Given the description of an element on the screen output the (x, y) to click on. 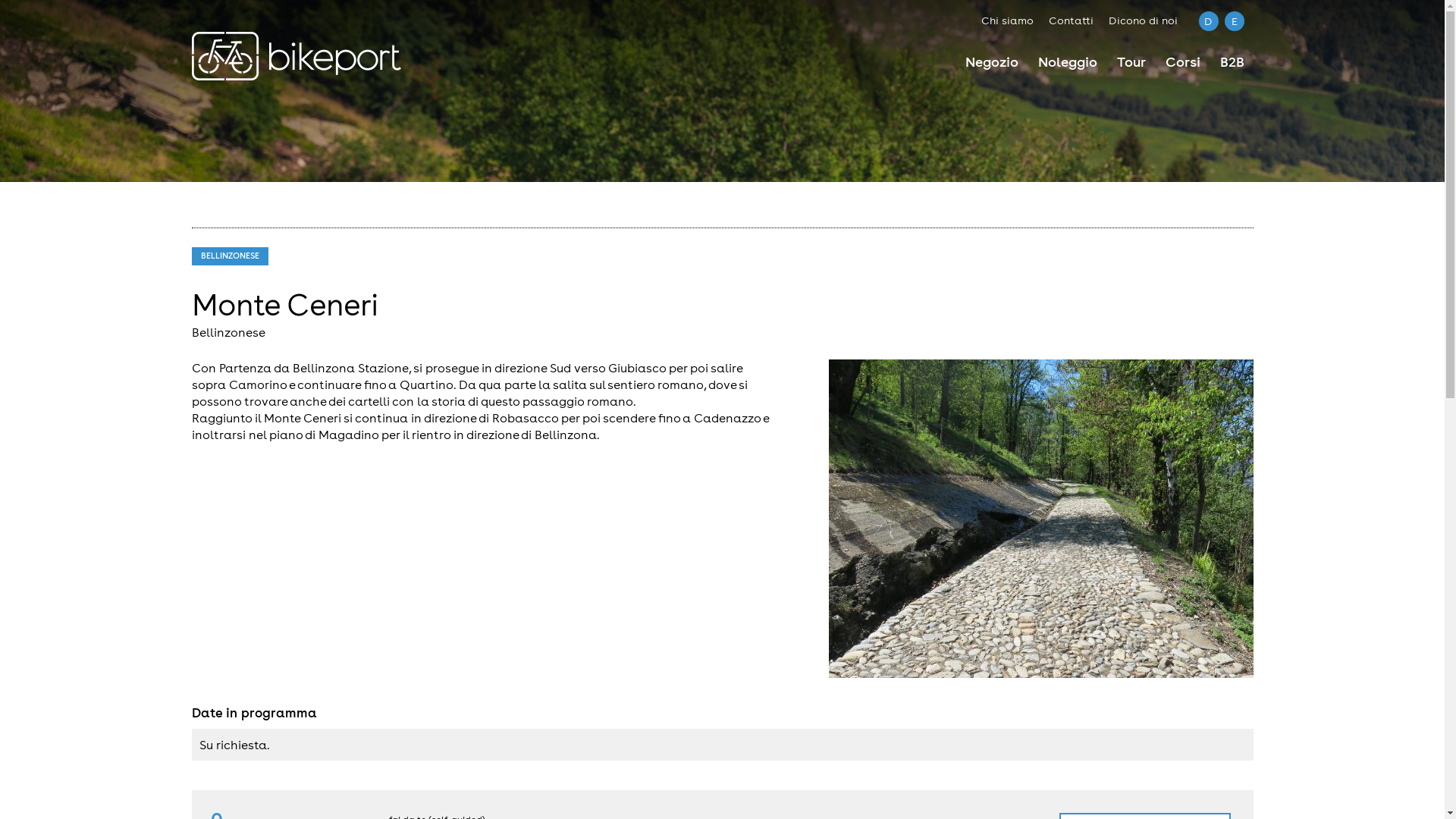
B2B Element type: text (1231, 63)
D Element type: text (1207, 21)
Negozio Element type: text (990, 63)
Corsi Element type: text (1181, 63)
Noleggio Element type: text (1066, 63)
Chi siamo Element type: text (1007, 19)
Dicono di noi Element type: text (1142, 19)
E Element type: text (1233, 21)
Tour Element type: text (1130, 63)
Contatti Element type: text (1070, 19)
